Given the description of an element on the screen output the (x, y) to click on. 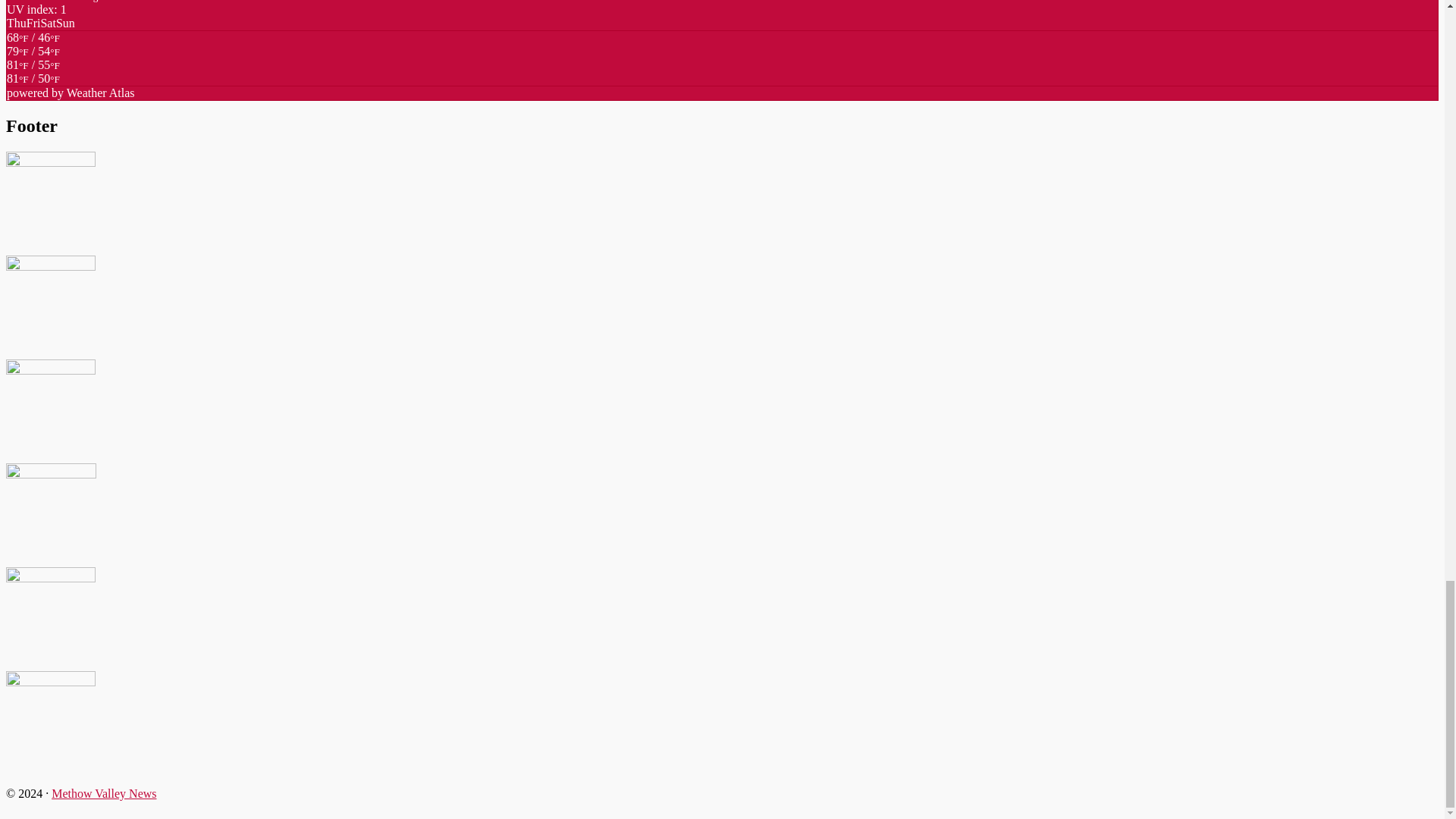
Mostly Sunny (33, 58)
Partly Cloudy (33, 78)
Mostly Cloudy (33, 71)
Mostly Cloudy (33, 44)
